Given the description of an element on the screen output the (x, y) to click on. 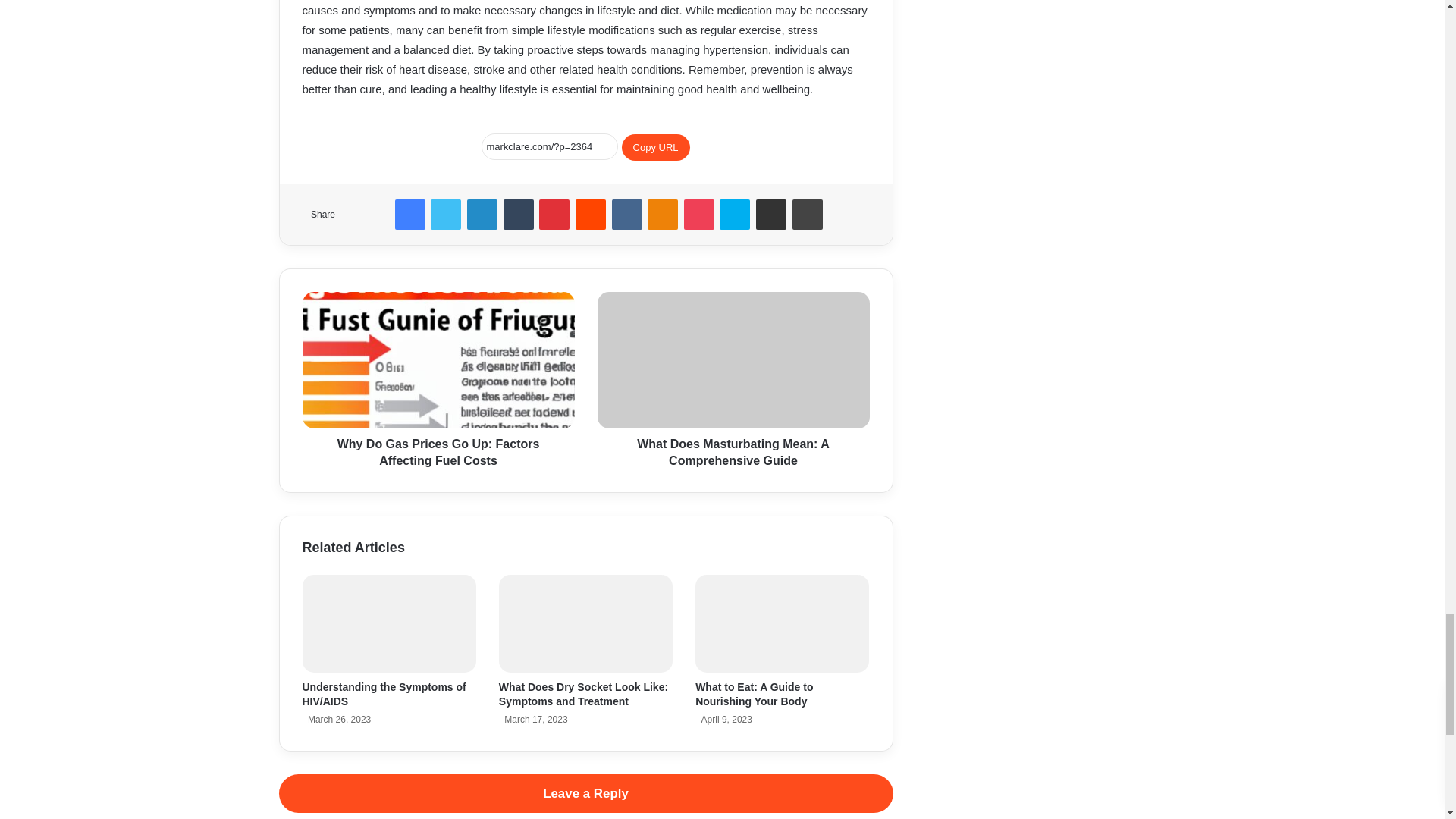
Copy URL (655, 147)
